Given the description of an element on the screen output the (x, y) to click on. 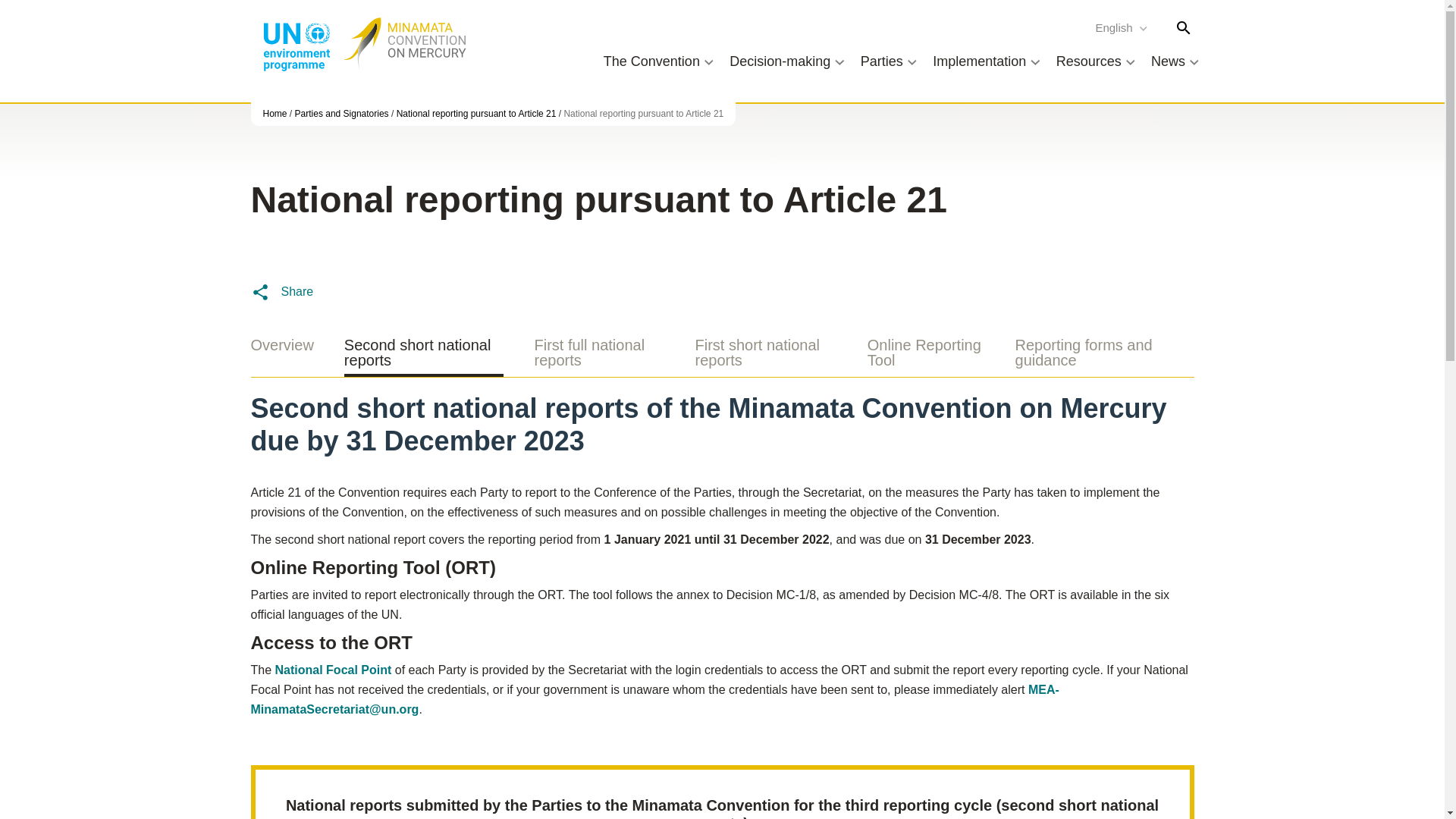
Expand menu Decision-making (788, 60)
Decision-making (788, 60)
Expand menu Parties (890, 60)
English (1122, 27)
Expand menu Implementation (987, 60)
Parties (890, 60)
Expand menu The Convention (659, 60)
Expand menu Resources (1096, 60)
